Given the description of an element on the screen output the (x, y) to click on. 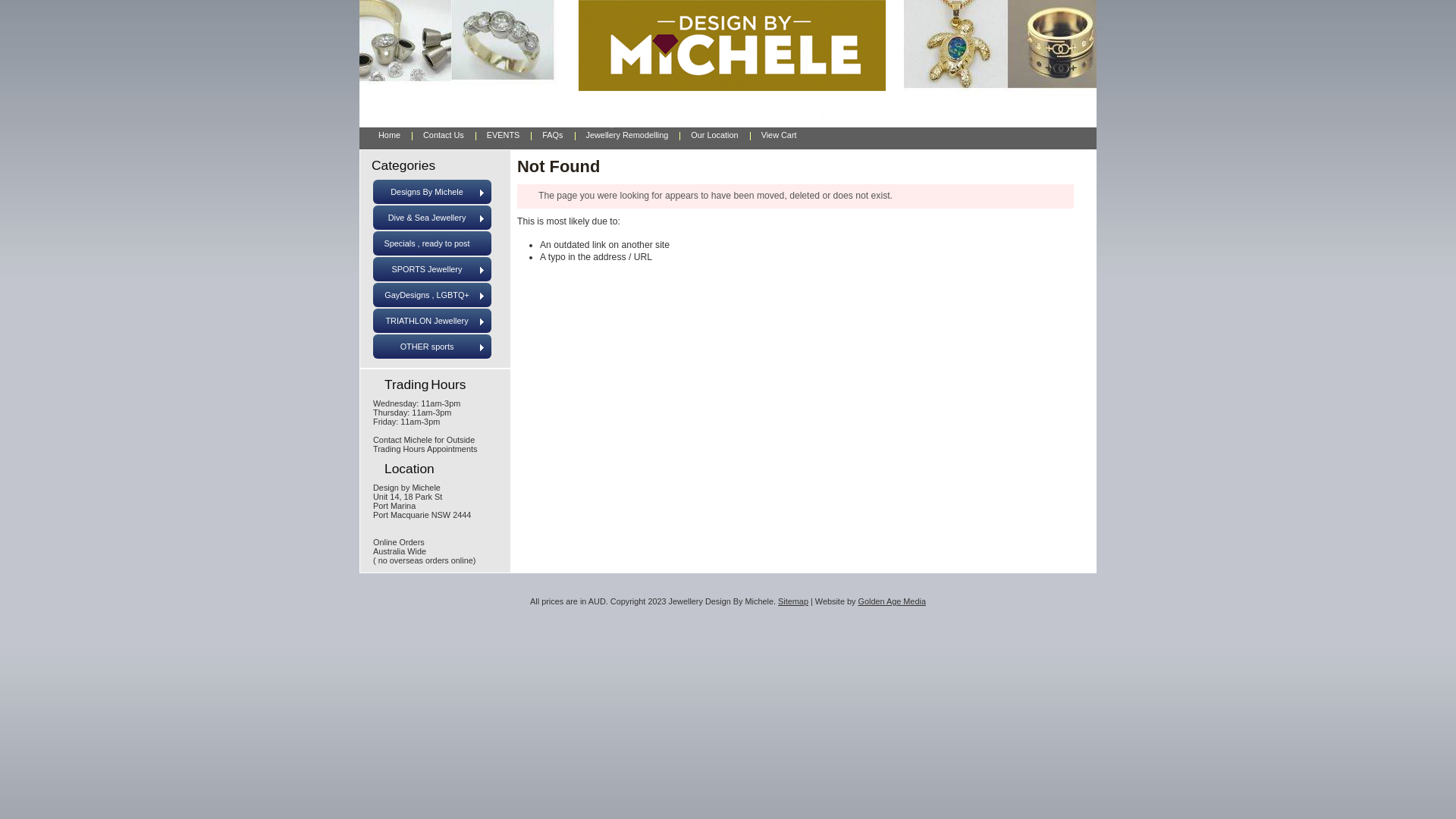
Contact Us Element type: text (443, 133)
EVENTS Element type: text (503, 133)
Specials , ready to post Element type: text (432, 243)
View Cart Element type: text (778, 133)
Sitemap Element type: text (793, 600)
Our Location Element type: text (714, 133)
Jewellery Remodelling Element type: text (627, 133)
FAQs Element type: text (552, 133)
Golden Age Media Element type: text (891, 600)
Home Element type: text (389, 133)
. Element type: text (386, 43)
